Given the description of an element on the screen output the (x, y) to click on. 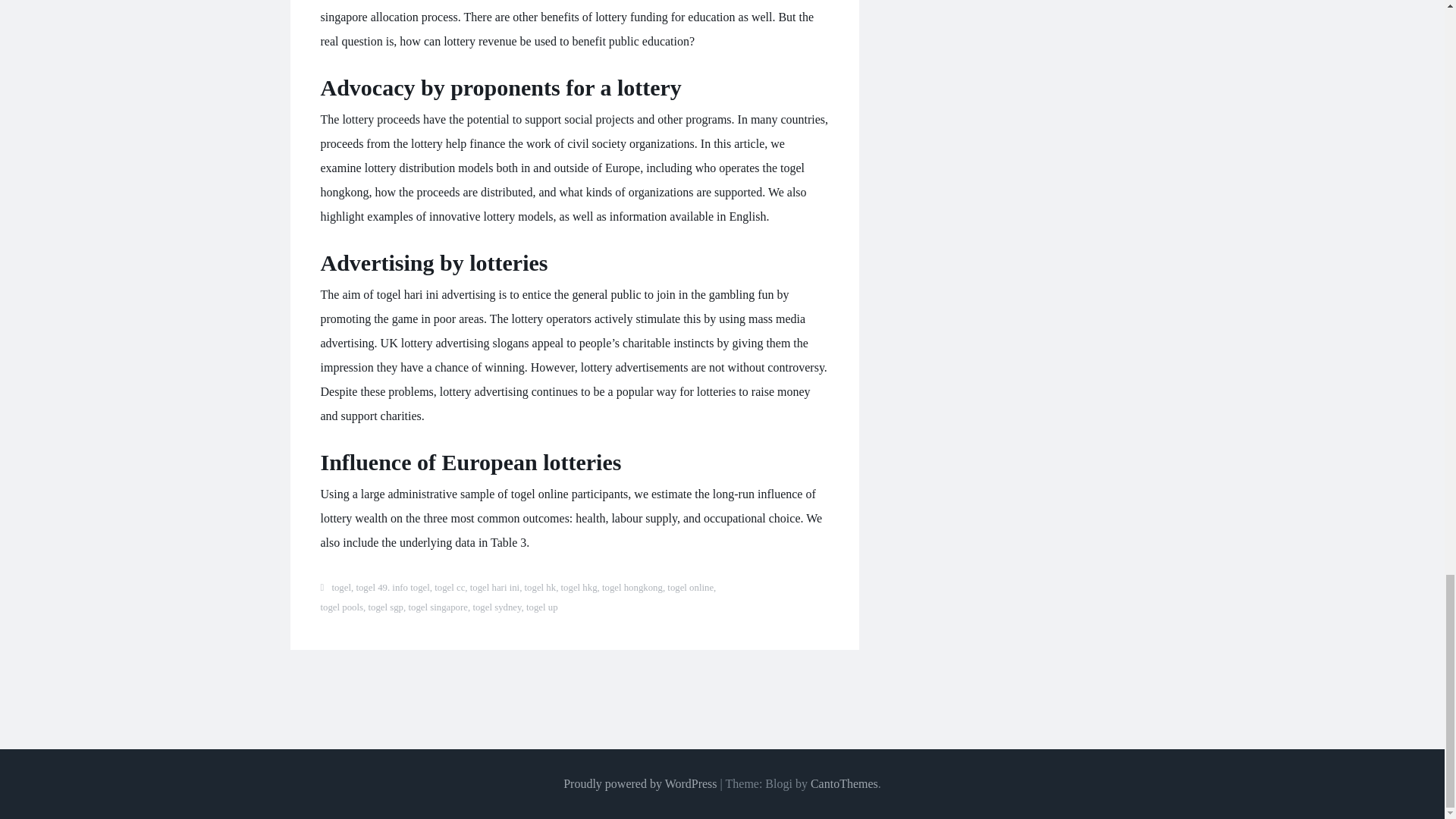
togel hongkong (632, 587)
togel 49. info togel (392, 587)
togel hkg (578, 587)
togel sgp (385, 606)
togel hk (540, 587)
togel hari ini (494, 587)
togel pools (341, 606)
togel cc (448, 587)
togel (340, 587)
togel online (689, 587)
